Given the description of an element on the screen output the (x, y) to click on. 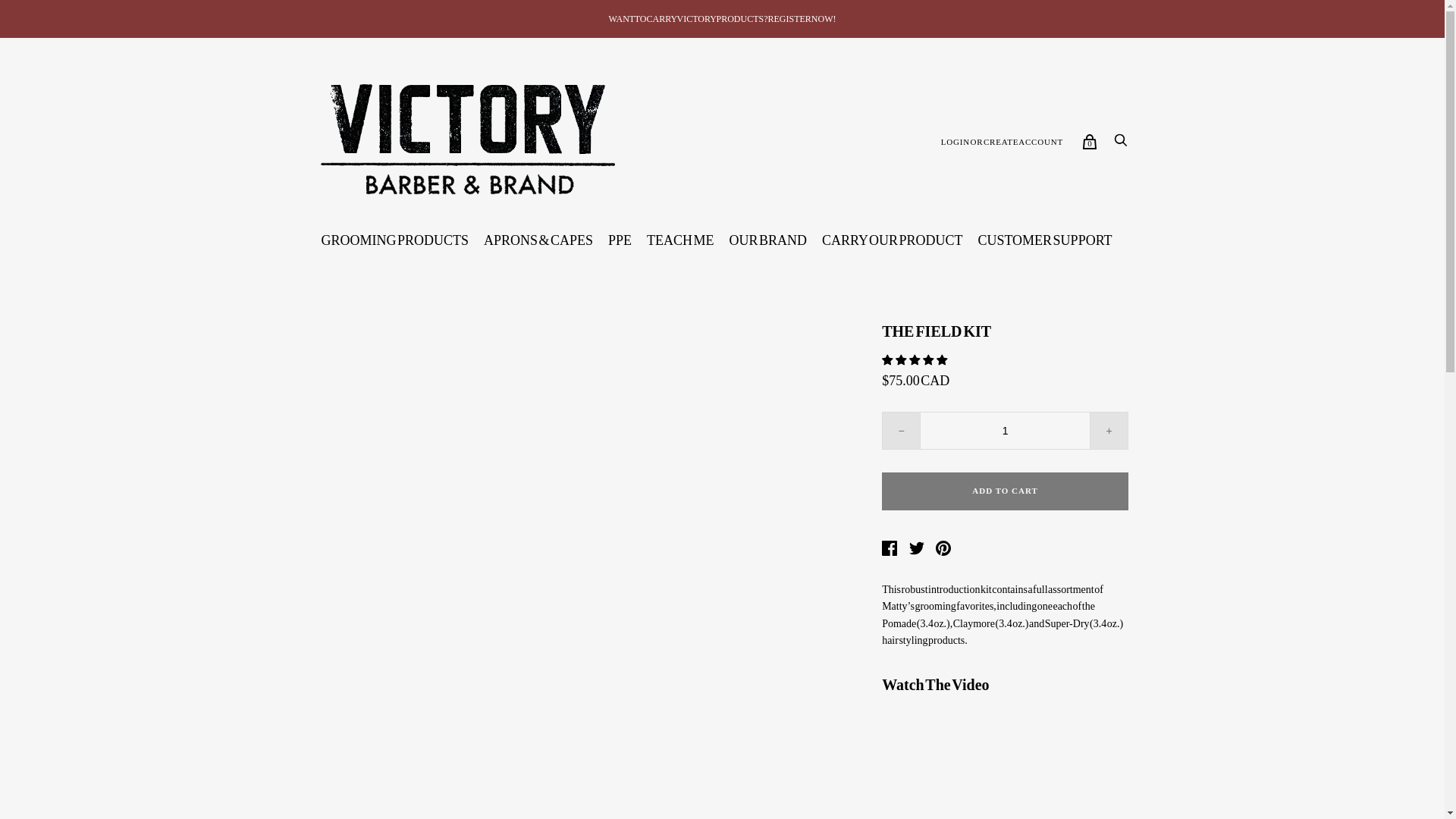
TEACH ME (680, 240)
GROOMING PRODUCTS (394, 240)
1 (1005, 430)
CARRY OUR PRODUCT (891, 240)
PPE (619, 240)
OUR BRAND (768, 240)
